Given the description of an element on the screen output the (x, y) to click on. 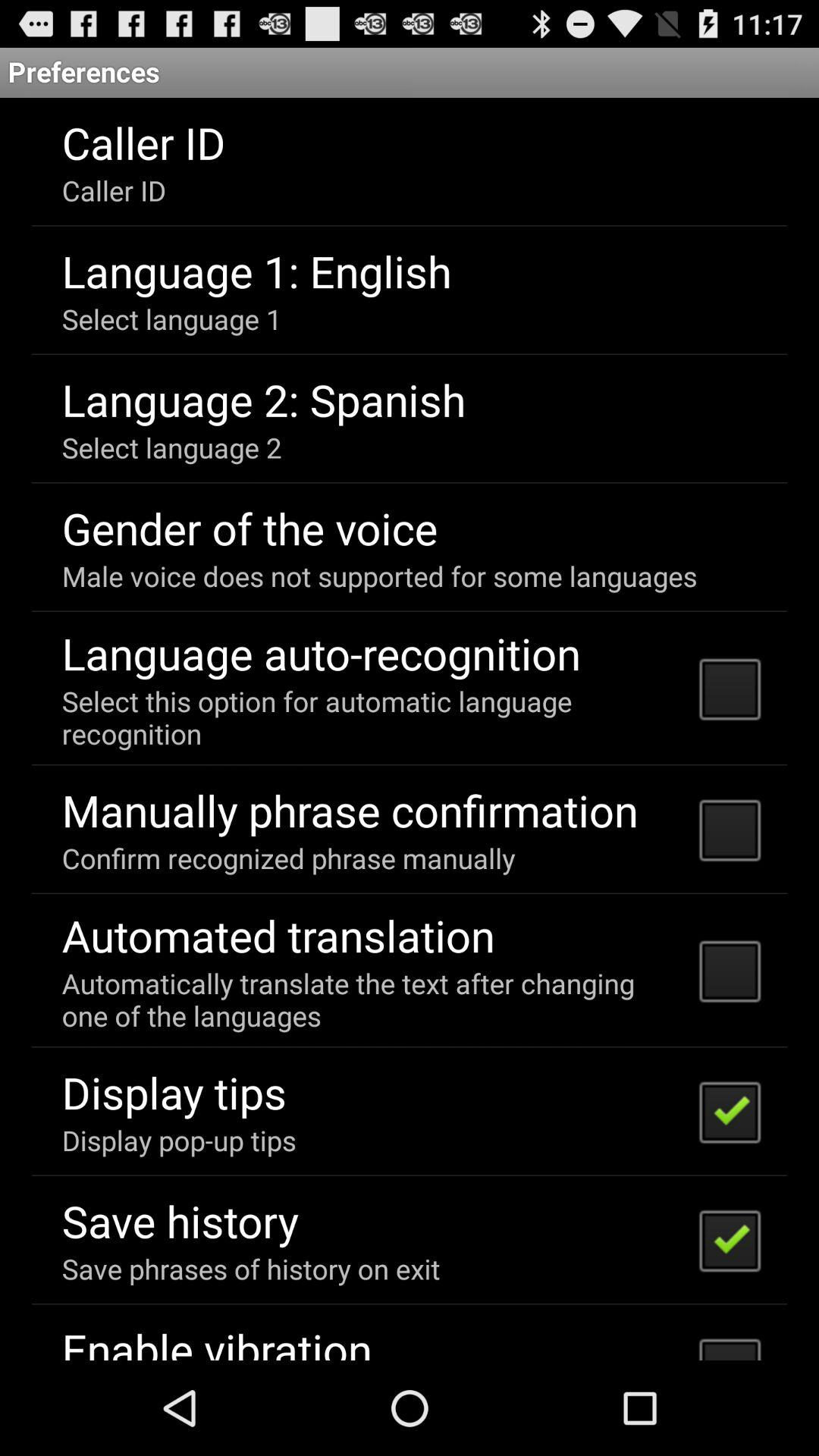
choose the icon below the manually phrase confirmation item (288, 858)
